Given the description of an element on the screen output the (x, y) to click on. 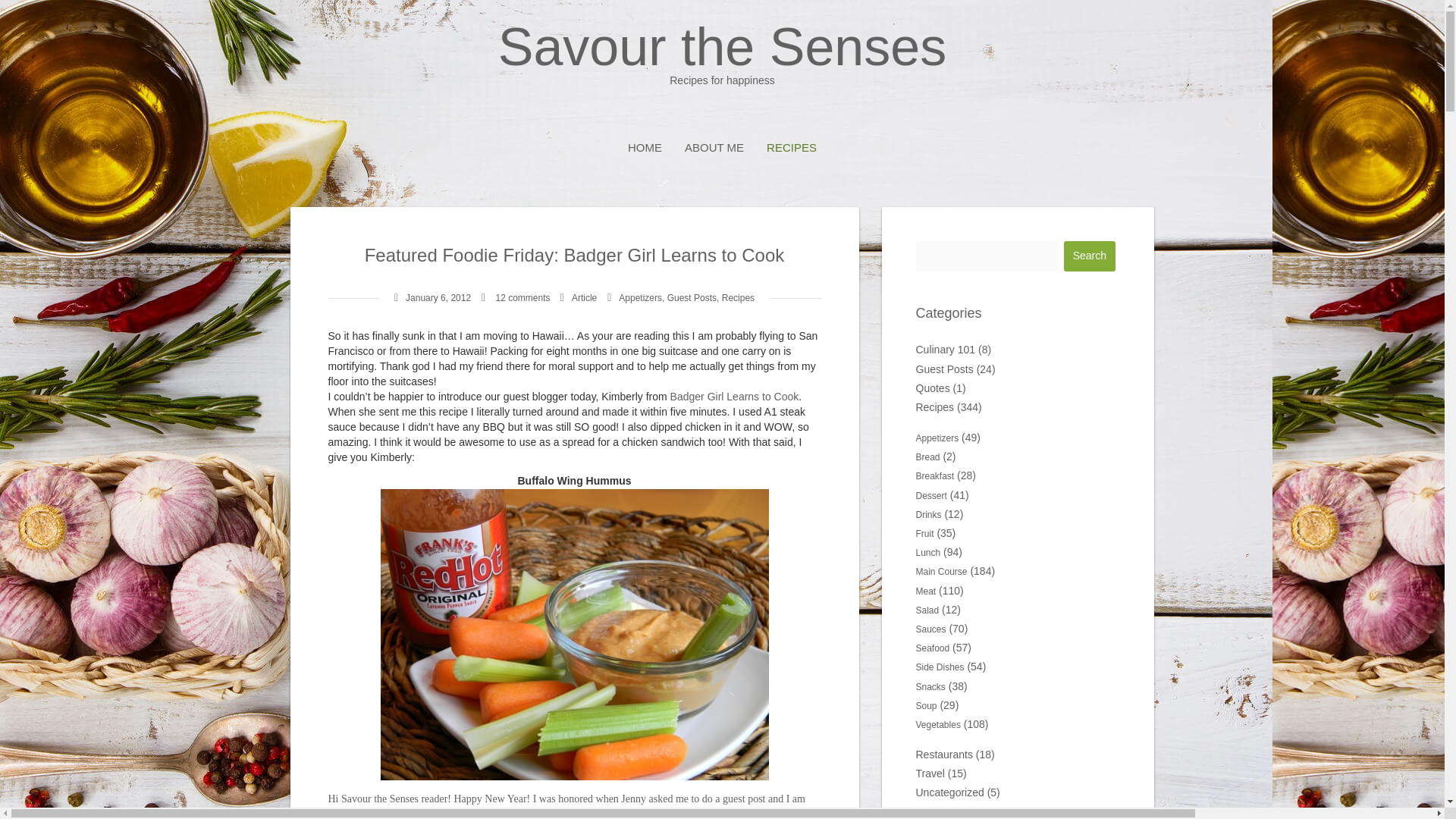
ABOUT ME (714, 147)
Badger Girl Learns to Cook (734, 396)
RECIPES (791, 147)
Badger Girl Learns to Cook (734, 396)
Appetizers (640, 297)
HOME (644, 147)
Search (1089, 255)
Recipes (738, 297)
Guest Posts (691, 297)
bbq hummus 2 (574, 634)
Savour the Senses (721, 53)
12 comments (721, 53)
